Given the description of an element on the screen output the (x, y) to click on. 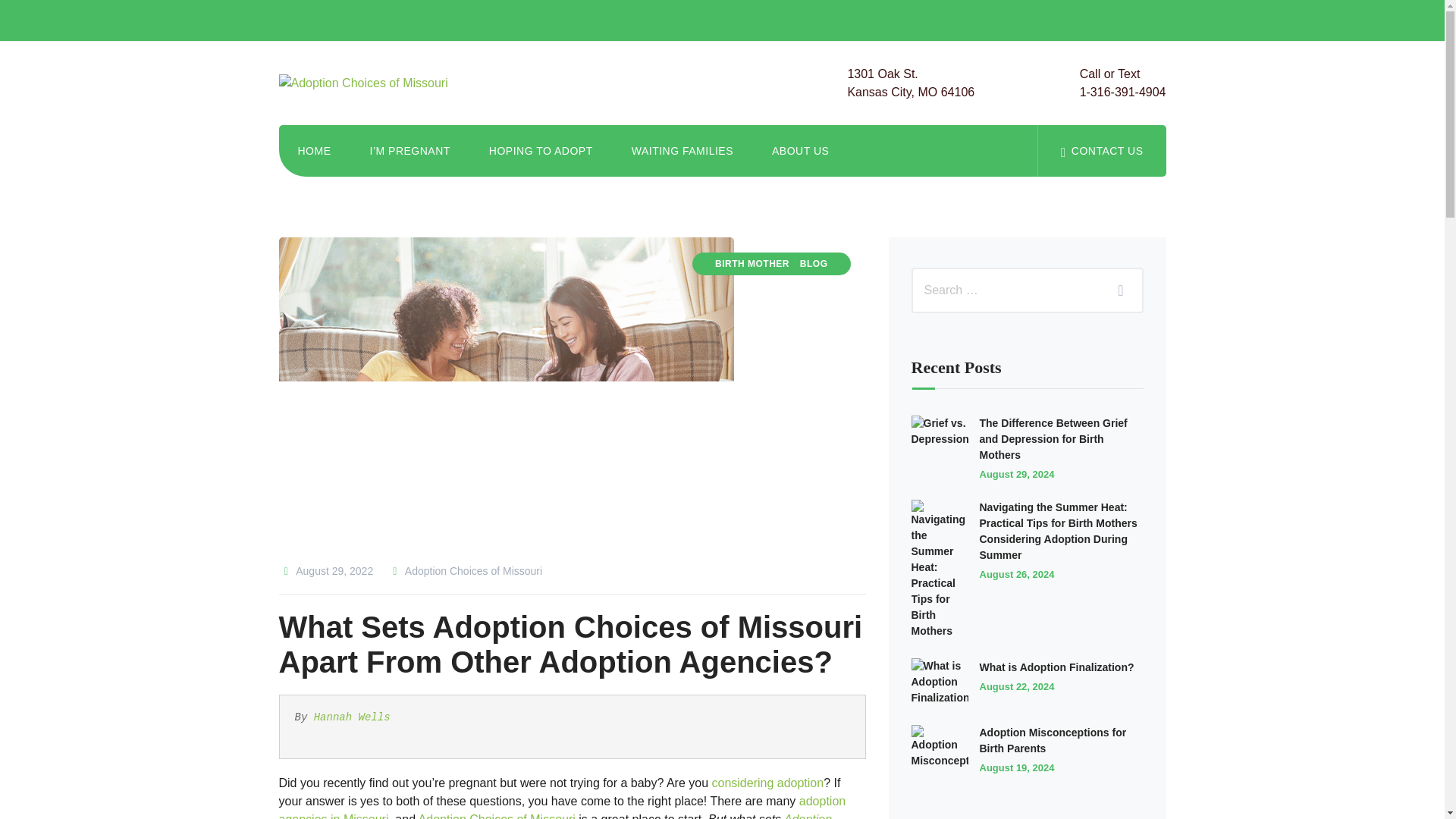
August 29, 2022 (326, 571)
considering adoption (767, 782)
adoption agencies in Missouri (562, 806)
Hannah Wells (352, 717)
HOPING TO ADOPT (540, 150)
Search (1116, 289)
WAITING FAMILIES (1123, 83)
Posted by Adoption Choices of Missouri (682, 150)
Adoption Choices of Missouri (464, 571)
